Given the description of an element on the screen output the (x, y) to click on. 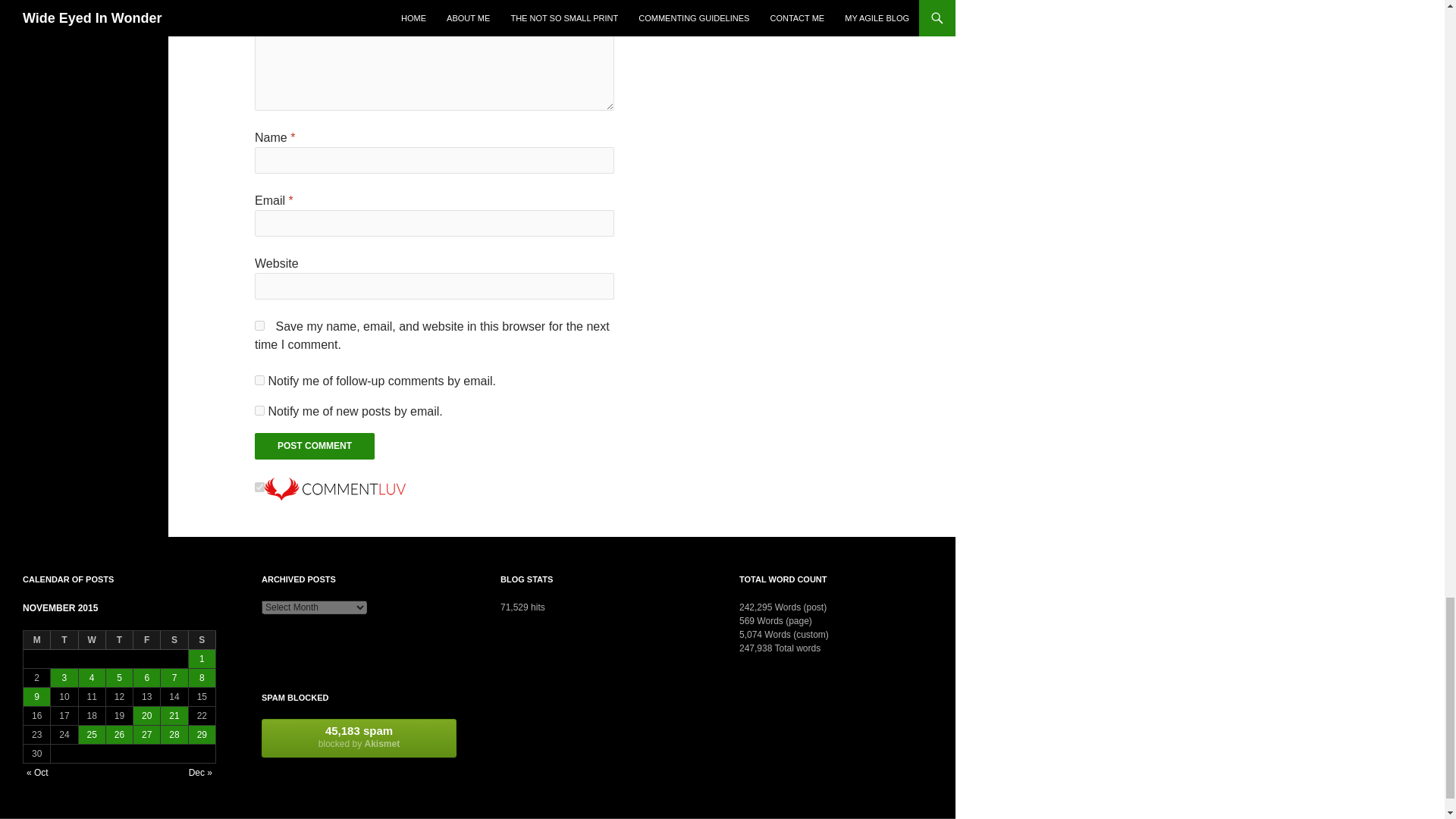
Sunday (202, 640)
Friday (146, 640)
yes (259, 325)
Post Comment (314, 446)
subscribe (259, 410)
on (259, 487)
subscribe (259, 379)
Thursday (119, 640)
Tuesday (64, 640)
Post Comment (314, 446)
